Given the description of an element on the screen output the (x, y) to click on. 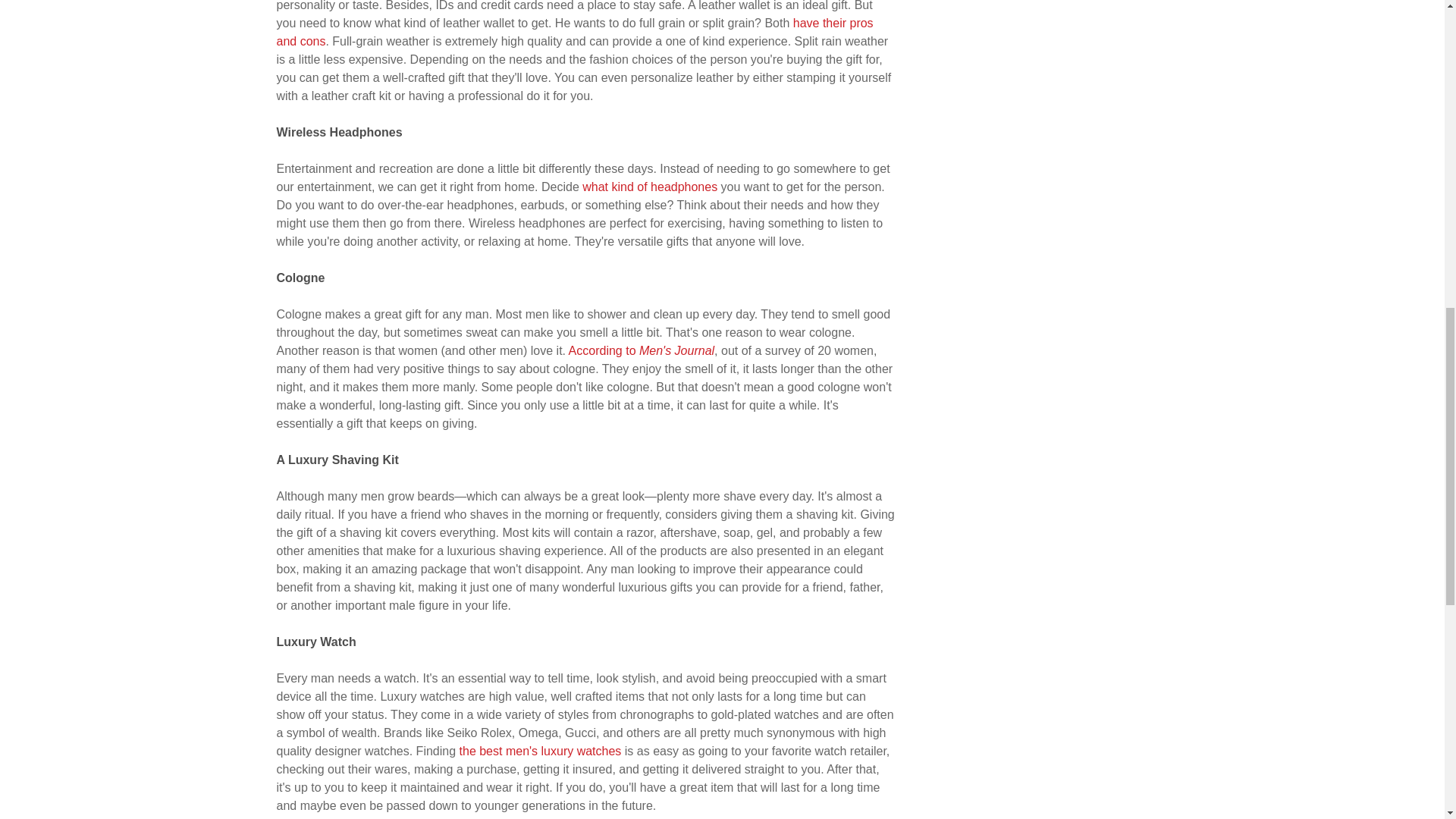
what kind of headphones (649, 186)
the best men's luxury watches (540, 750)
have their pros and cons (574, 31)
Men's Journal (676, 350)
According to (604, 350)
